Given the description of an element on the screen output the (x, y) to click on. 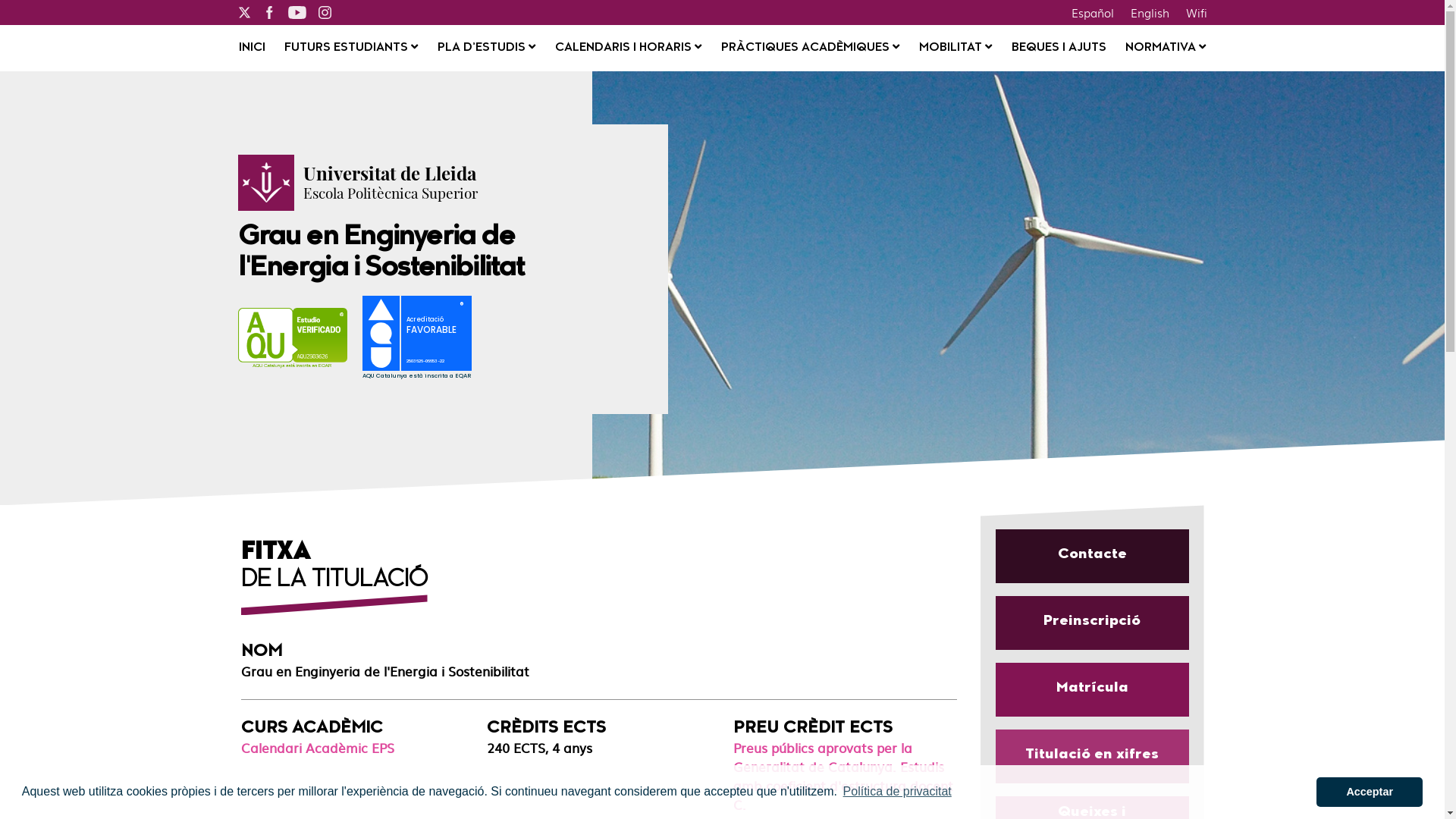
CALENDARIS I HORARIS Element type: text (628, 48)
NORMATIVA Element type: text (1165, 48)
FUTURS ESTUDIANTS Element type: text (350, 48)
Acceptar Element type: text (1369, 791)
MOBILITAT Element type: text (955, 48)
INICI Element type: text (251, 48)
English Element type: text (1149, 12)
Wifi Element type: text (1195, 12)
SegellAcreditacioAQU_GEESostenibilitat_ca Element type: hover (424, 339)
BEQUES I AJUTS Element type: text (1058, 48)
